Given the description of an element on the screen output the (x, y) to click on. 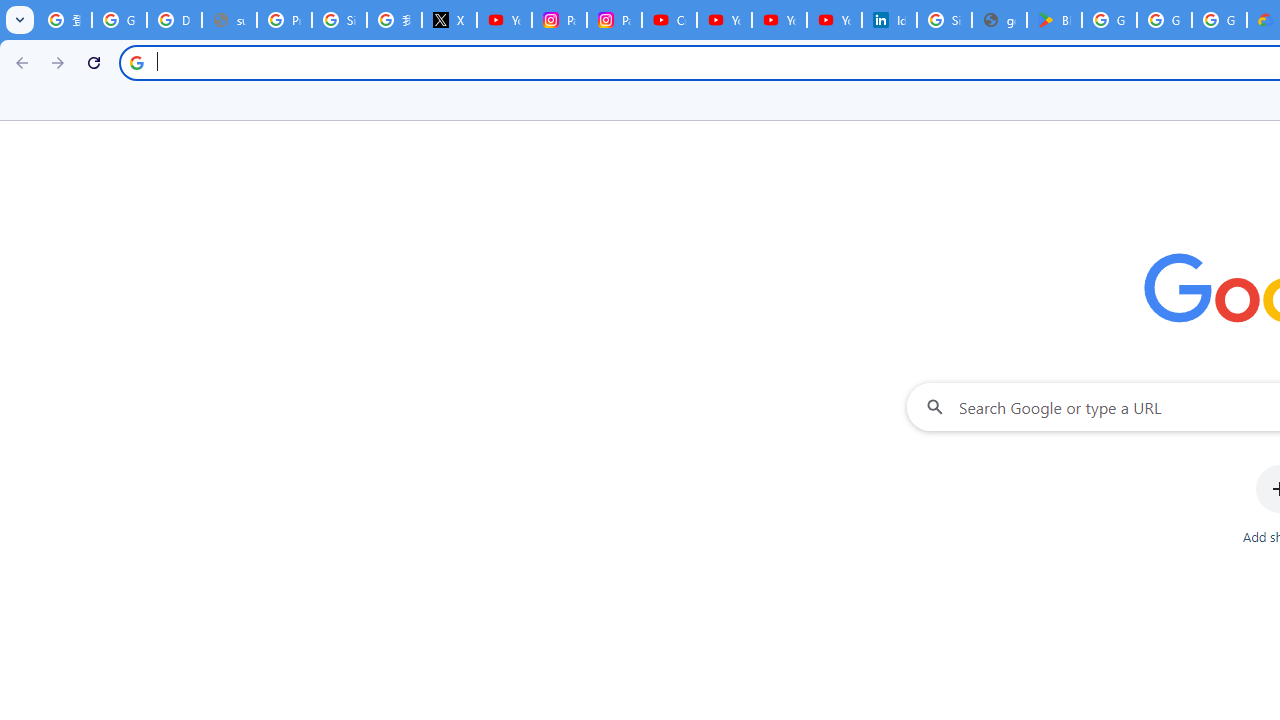
Bluey: Let's Play! - Apps on Google Play (1053, 20)
Sign in - Google Accounts (943, 20)
Google Workspace - Specific Terms (1218, 20)
google_privacy_policy_en.pdf (998, 20)
support.google.com - Network error (229, 20)
Google Workspace - Specific Terms (1163, 20)
